Given the description of an element on the screen output the (x, y) to click on. 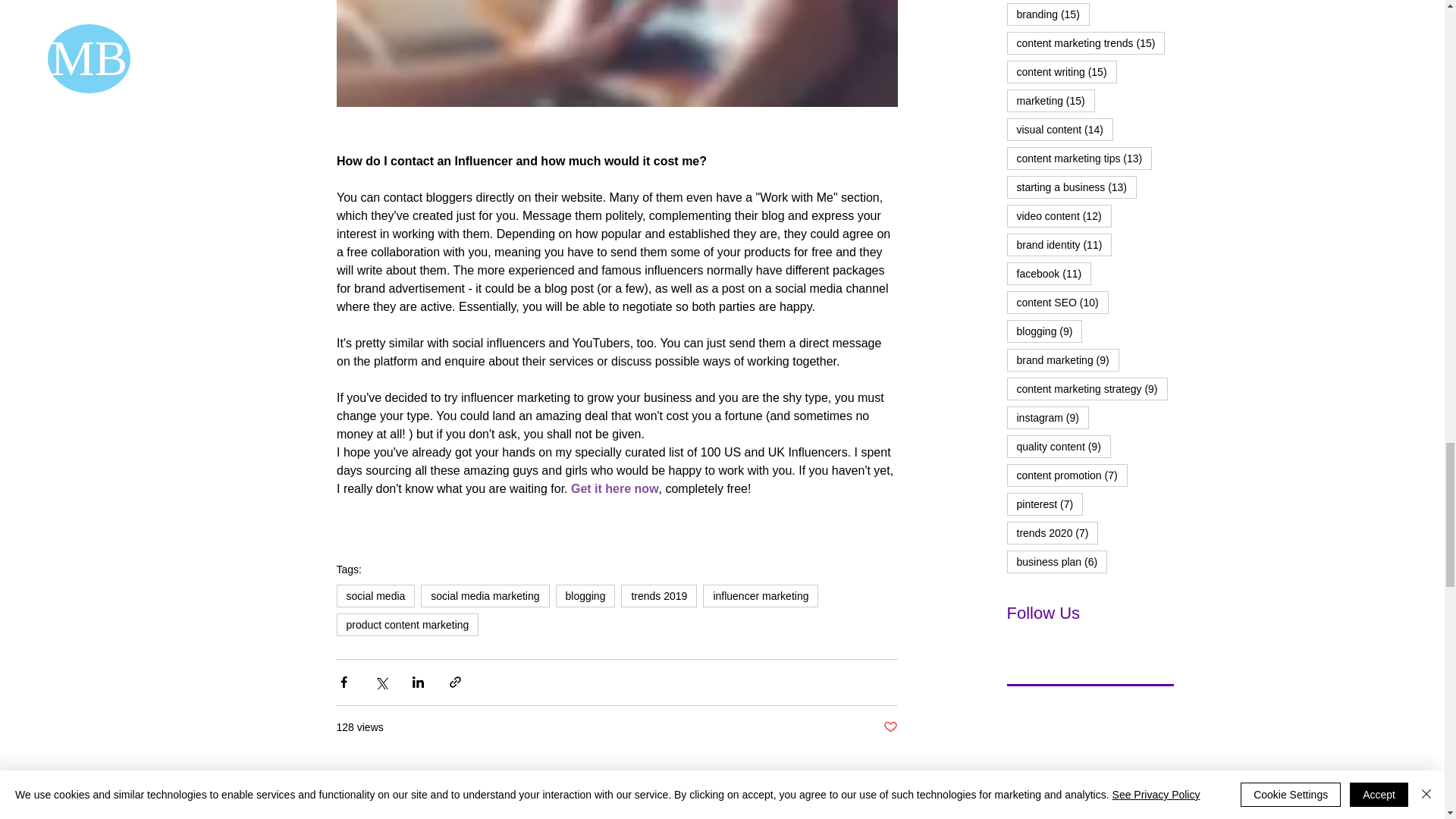
social media marketing (484, 595)
Get it here now (614, 488)
influencer marketing (760, 595)
blogging (584, 595)
product content marketing (407, 624)
Post not marked as liked (889, 727)
trends 2019 (659, 595)
social media (375, 595)
See All (957, 808)
